Given the description of an element on the screen output the (x, y) to click on. 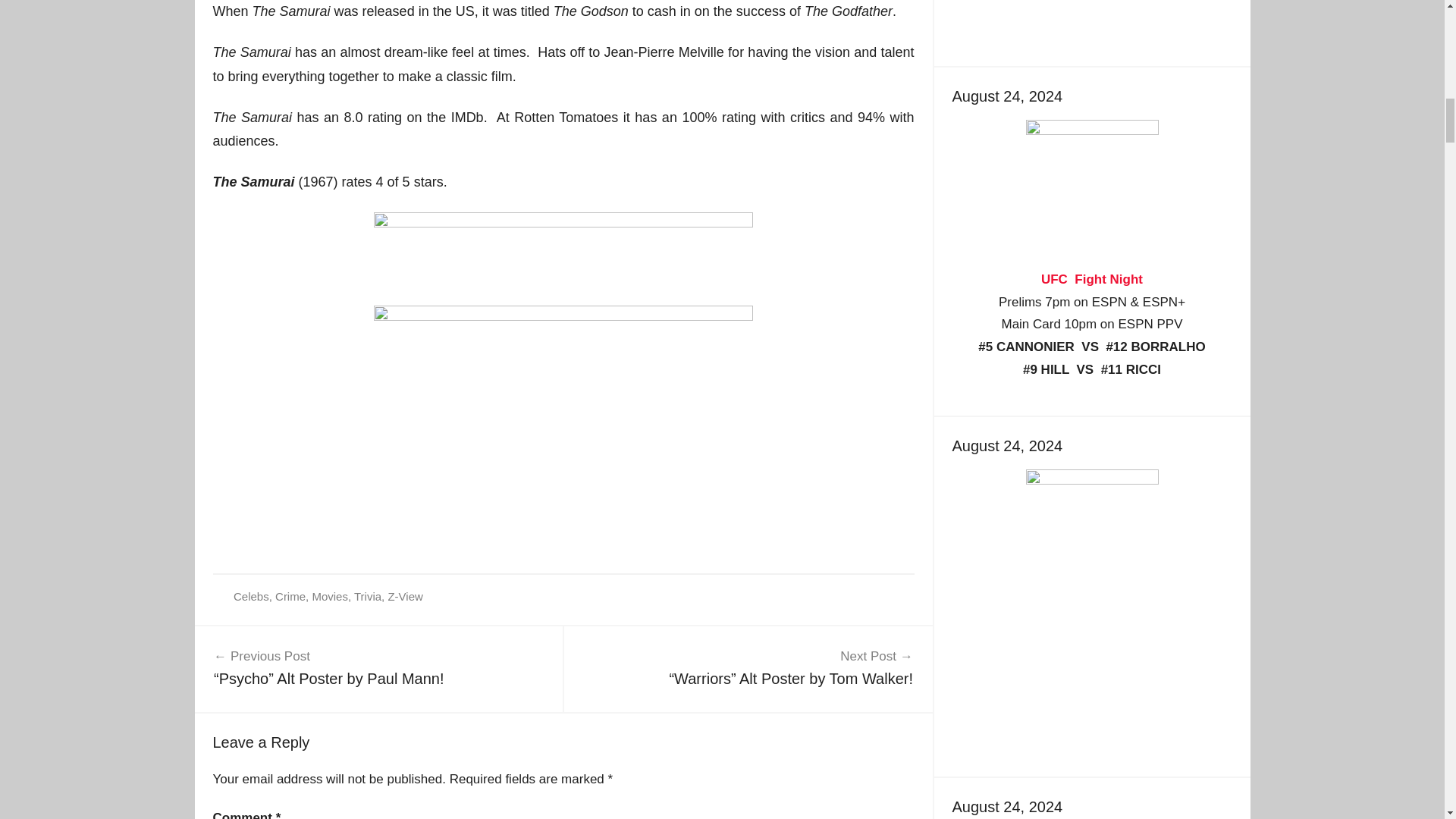
Movies (329, 595)
Celebs (250, 595)
Z-View (404, 595)
UFC  Fight Night (1091, 278)
Crime (290, 595)
Trivia (367, 595)
